Given the description of an element on the screen output the (x, y) to click on. 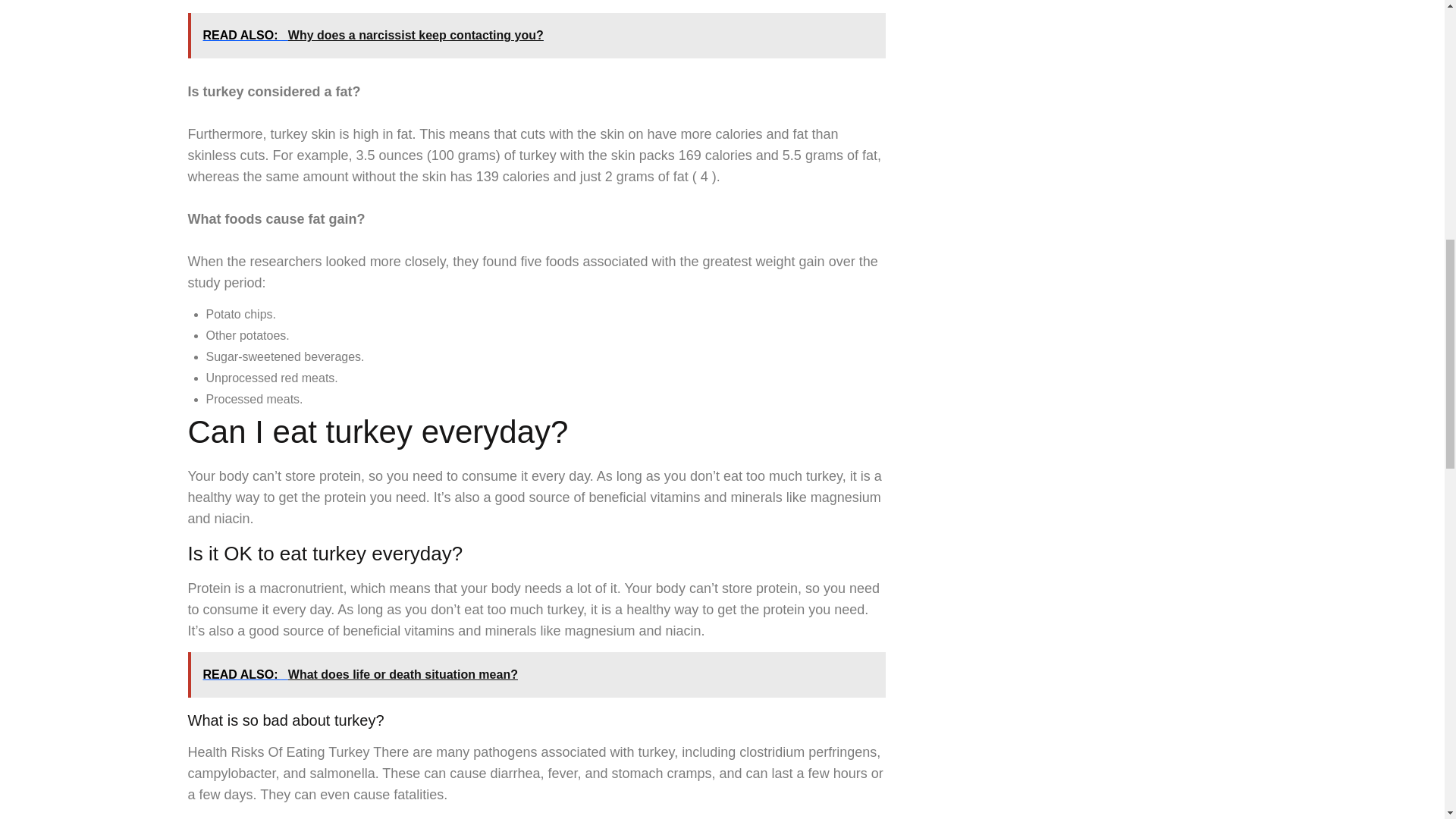
READ ALSO:   What does life or death situation mean? (536, 674)
READ ALSO:   Why does a narcissist keep contacting you? (536, 35)
